Given the description of an element on the screen output the (x, y) to click on. 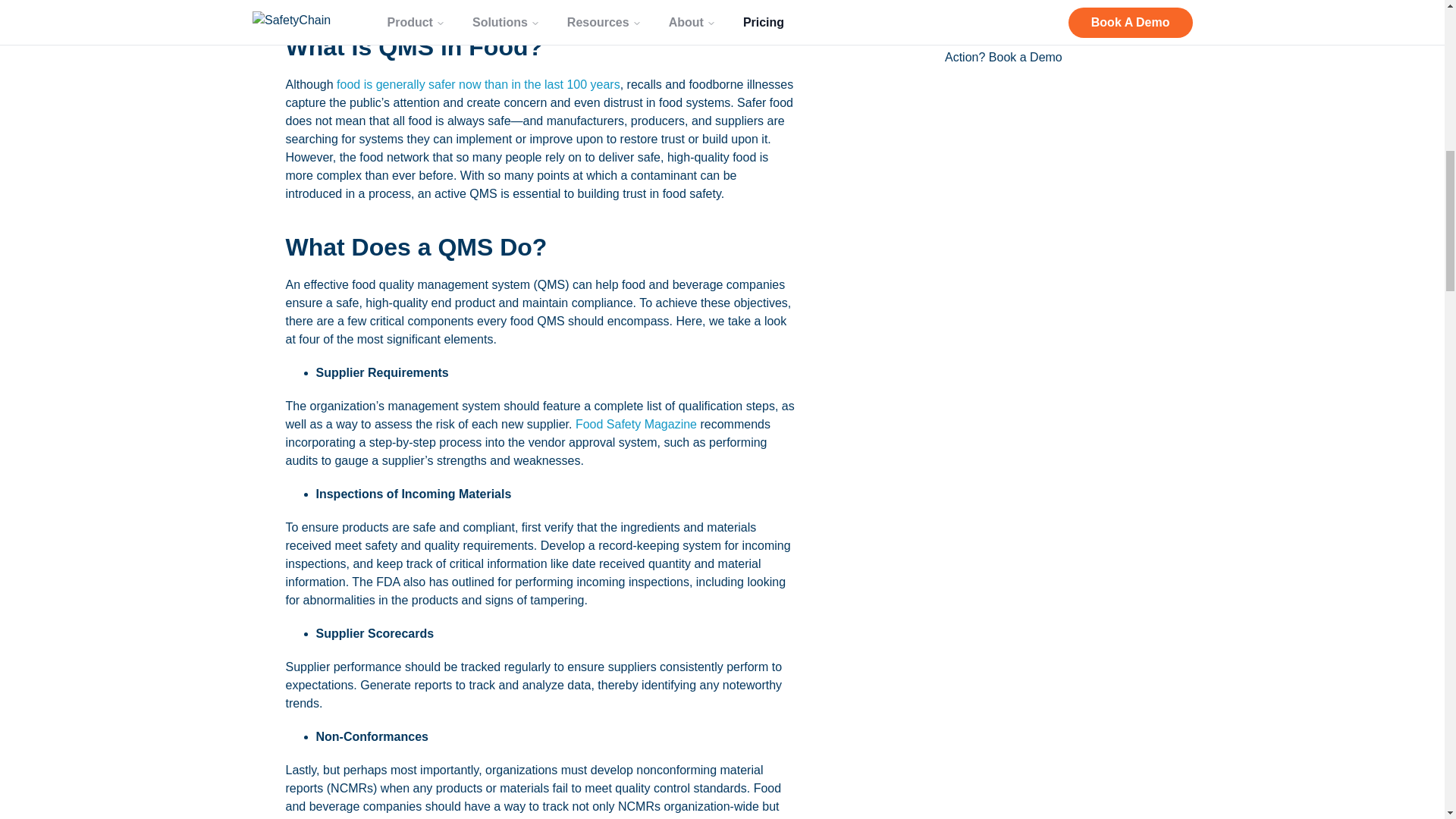
food is generally safer now than in the last 100 years (478, 83)
Food Safety Magazine (636, 423)
